Given the description of an element on the screen output the (x, y) to click on. 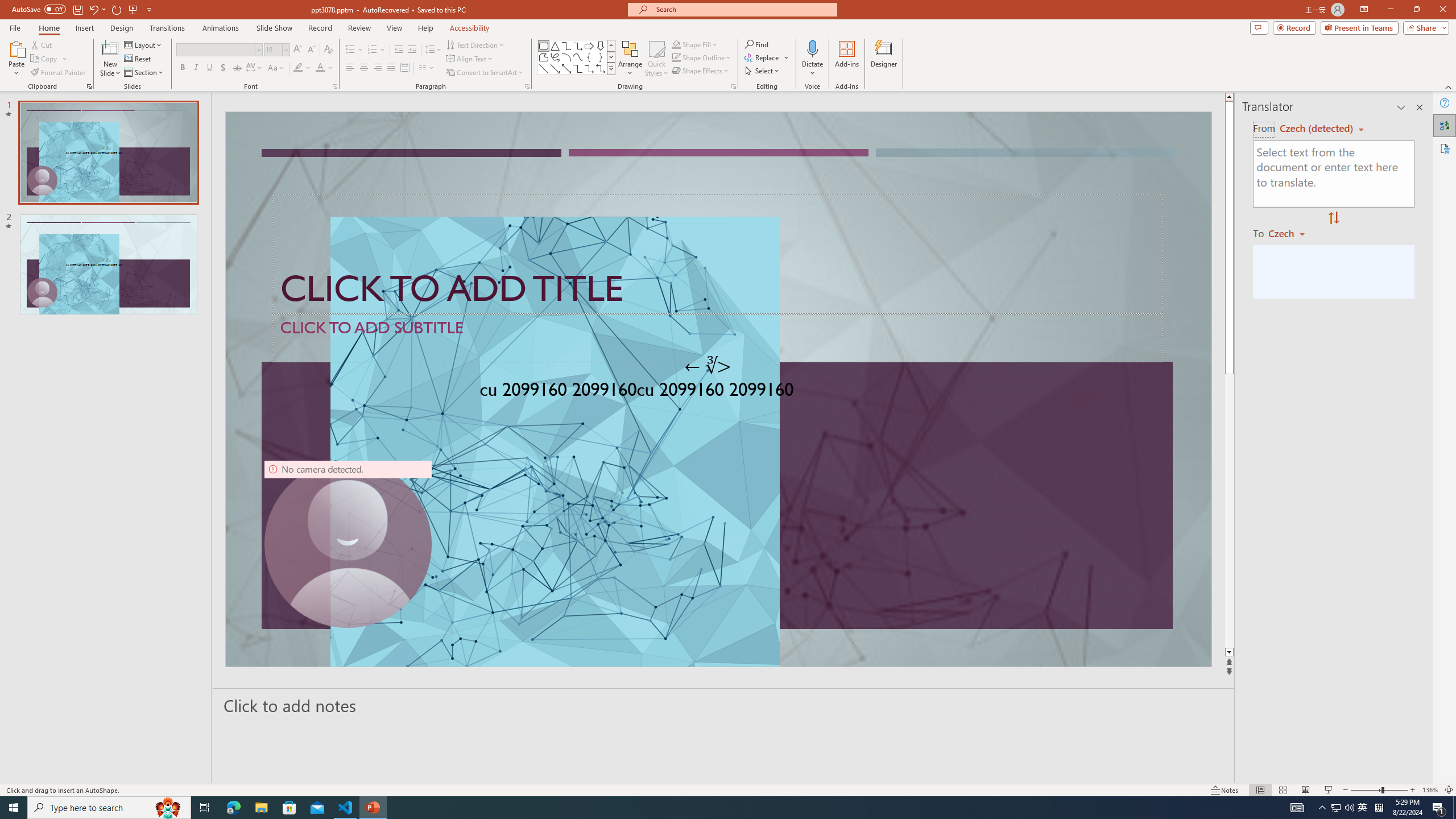
Camera 9, No camera detected. (347, 543)
